Given the description of an element on the screen output the (x, y) to click on. 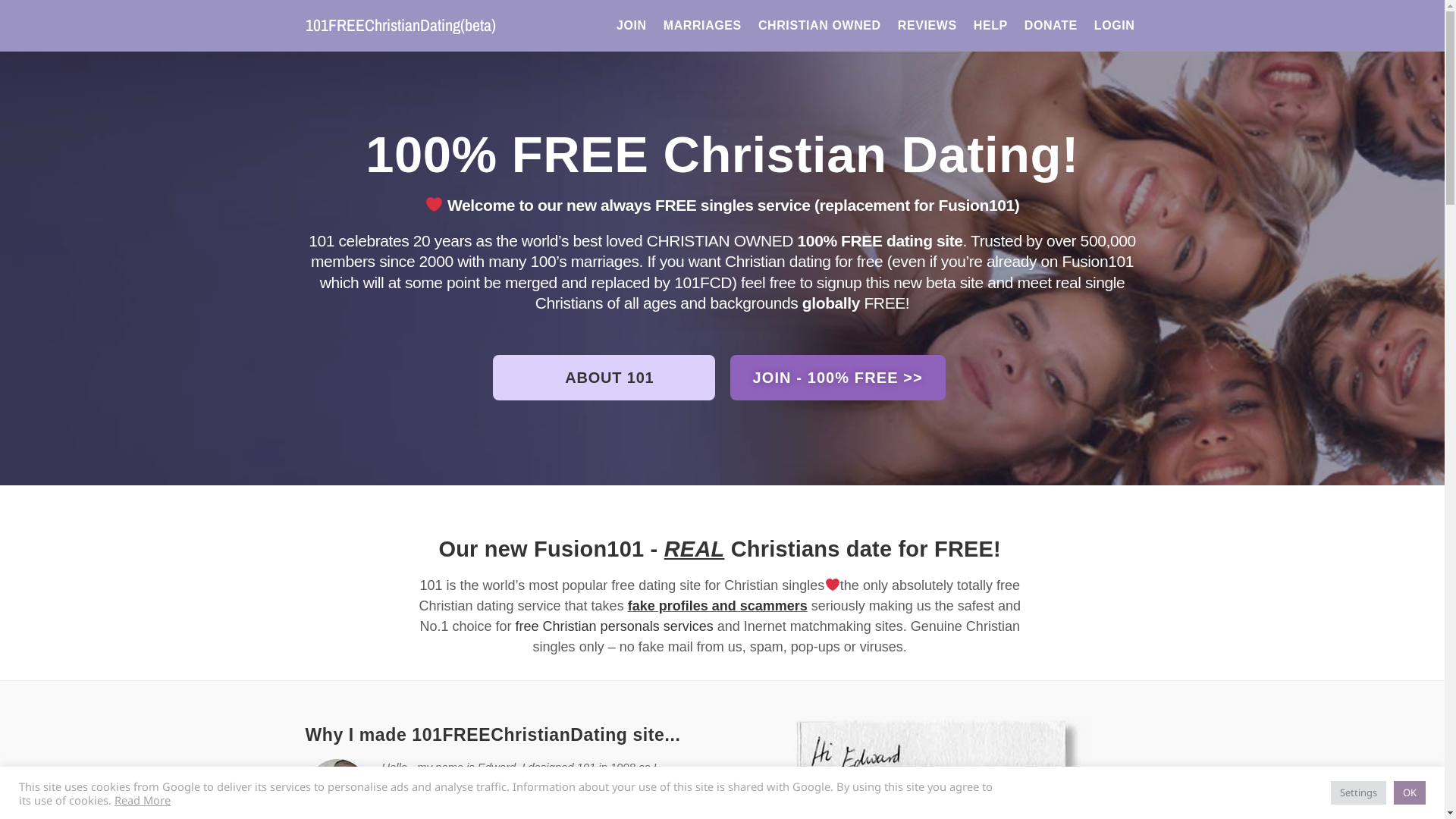
LOGIN Element type: text (1114, 25)
101FREEChristianDating(beta) Element type: text (399, 24)
fake profiles and scammers Element type: text (717, 605)
CHRISTIAN OWNED Element type: text (819, 25)
ABOUT 101 Element type: text (603, 377)
JOIN Element type: text (631, 25)
REVIEWS Element type: text (927, 25)
JOIN - 100% FREE >> Element type: text (836, 377)
DONATE Element type: text (1050, 25)
free Christian personals services Element type: text (614, 625)
Read More Element type: text (142, 798)
Settings Element type: text (1358, 792)
HELP Element type: text (990, 25)
OK Element type: text (1409, 792)
MARRIAGES Element type: text (702, 25)
